Given the description of an element on the screen output the (x, y) to click on. 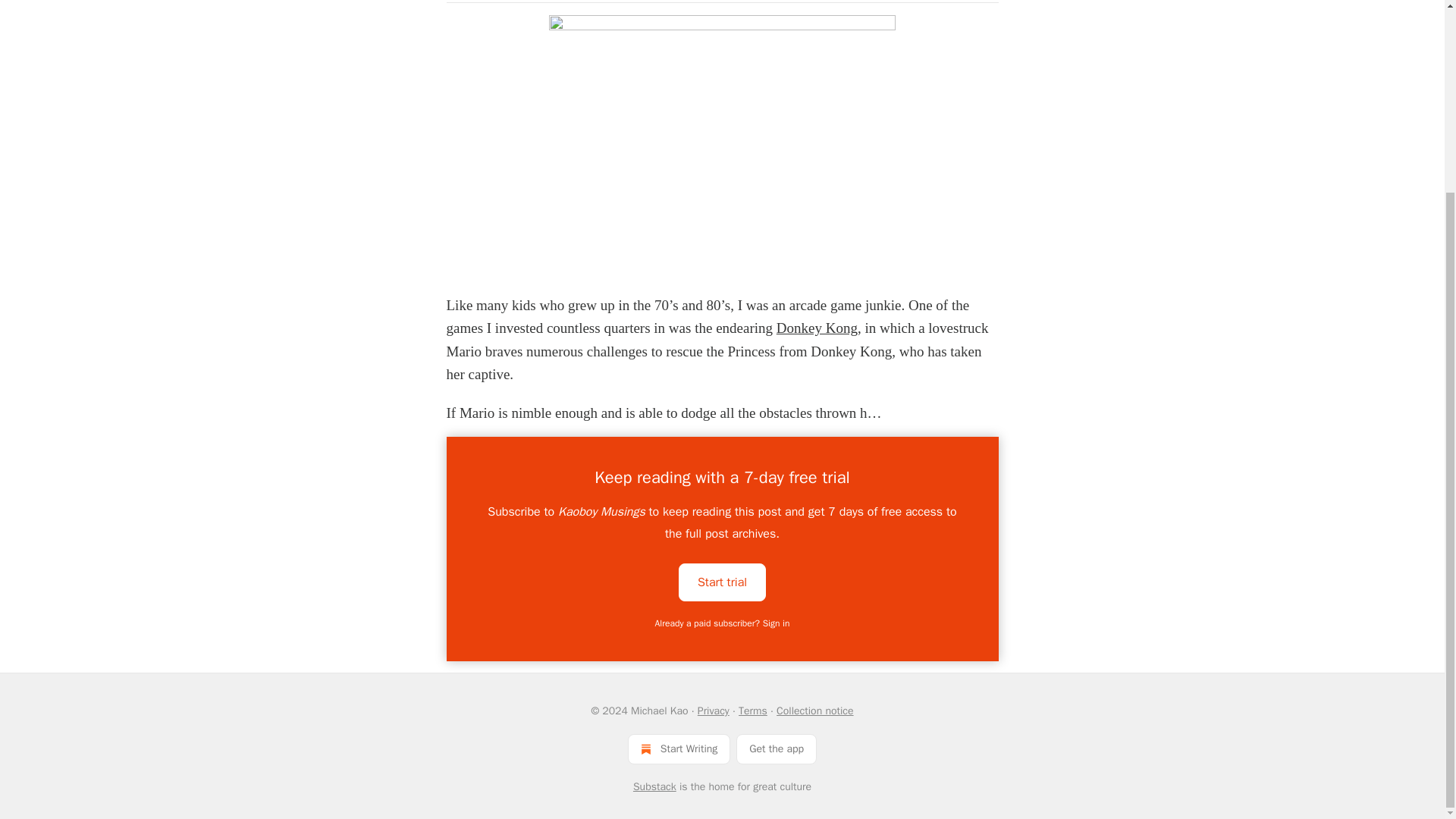
Start trial (721, 582)
Already a paid subscriber? Sign in (722, 623)
Collection notice (814, 710)
Substack (655, 786)
Start trial (721, 581)
Privacy (713, 710)
Terms (752, 710)
Donkey Kong (816, 327)
Start Writing (678, 748)
Get the app (776, 748)
